Given the description of an element on the screen output the (x, y) to click on. 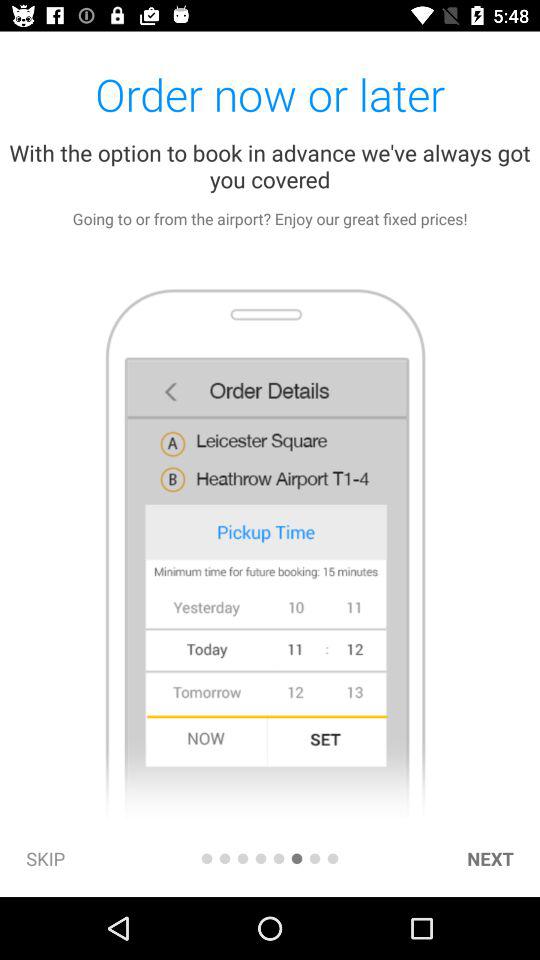
turn on the skip icon (45, 858)
